Given the description of an element on the screen output the (x, y) to click on. 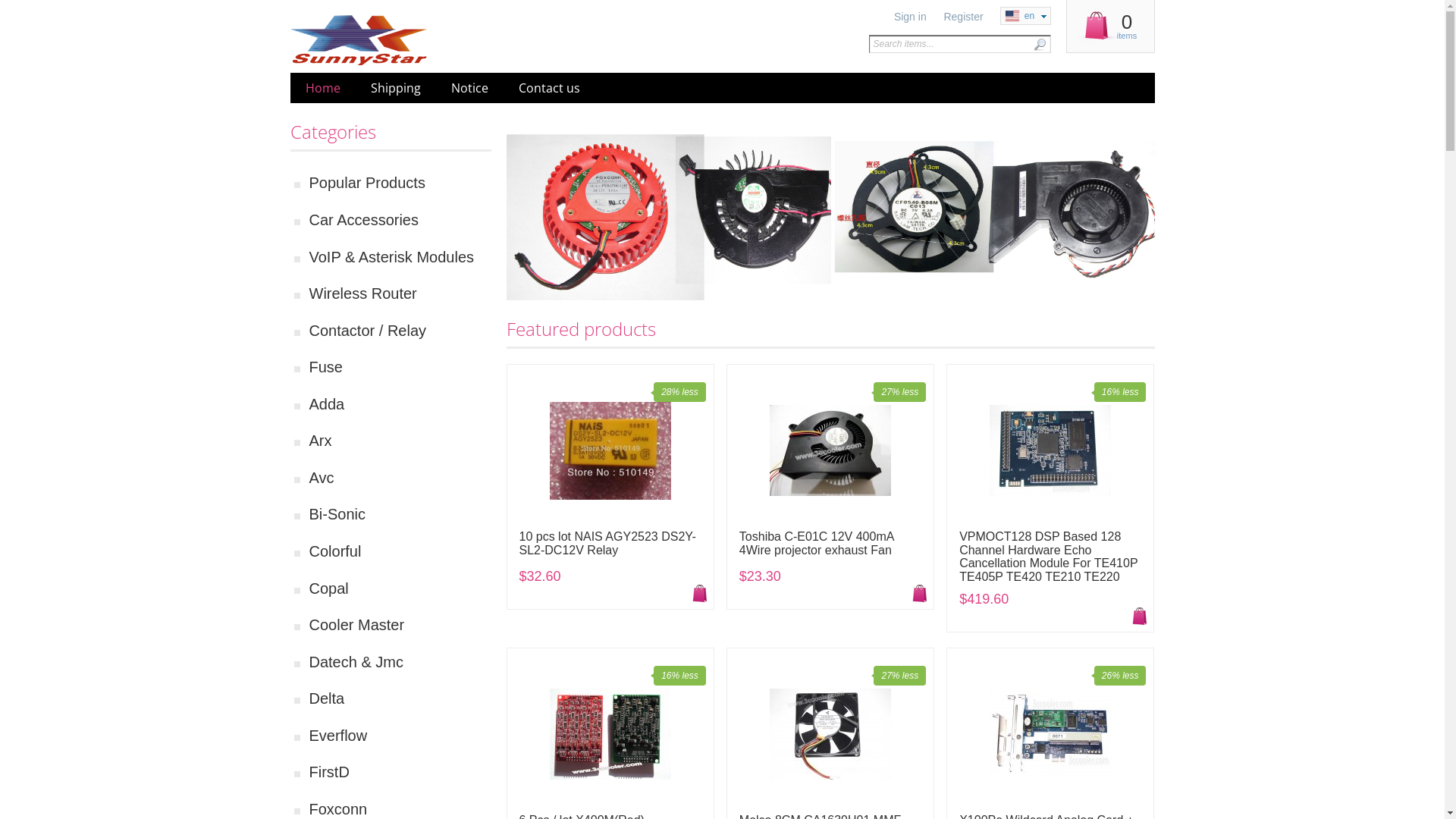
Everflow Element type: text (400, 735)
Cooler Master Element type: text (400, 624)
Delta Element type: text (400, 698)
Wireless Router Element type: text (400, 293)
Notice Element type: text (468, 87)
Copal Element type: text (400, 588)
Datech & Jmc Element type: text (400, 661)
Contactor / Relay Element type: text (400, 330)
Toshiba C-E01C 12V 400mA 4Wire projector exhaust Fan Element type: text (830, 543)
Contact us Element type: text (549, 87)
Colorful Element type: text (400, 551)
Popular Products Element type: text (400, 182)
Bi-Sonic Element type: text (400, 514)
VoIP & Asterisk Modules Element type: text (400, 257)
Sign in Element type: text (910, 16)
Arx Element type: text (400, 440)
Home Element type: hover (397, 40)
10 pcs lot NAIS AGY2523 DS2Y-SL2-DC12V Relay Element type: text (609, 543)
FirstD Element type: text (400, 771)
Car Accessories Element type: text (400, 219)
Fuse Element type: text (400, 366)
Adda Element type: text (400, 404)
Register Element type: text (962, 16)
Home Element type: text (321, 87)
Shipping Element type: text (394, 87)
Avc Element type: text (400, 477)
